Given the description of an element on the screen output the (x, y) to click on. 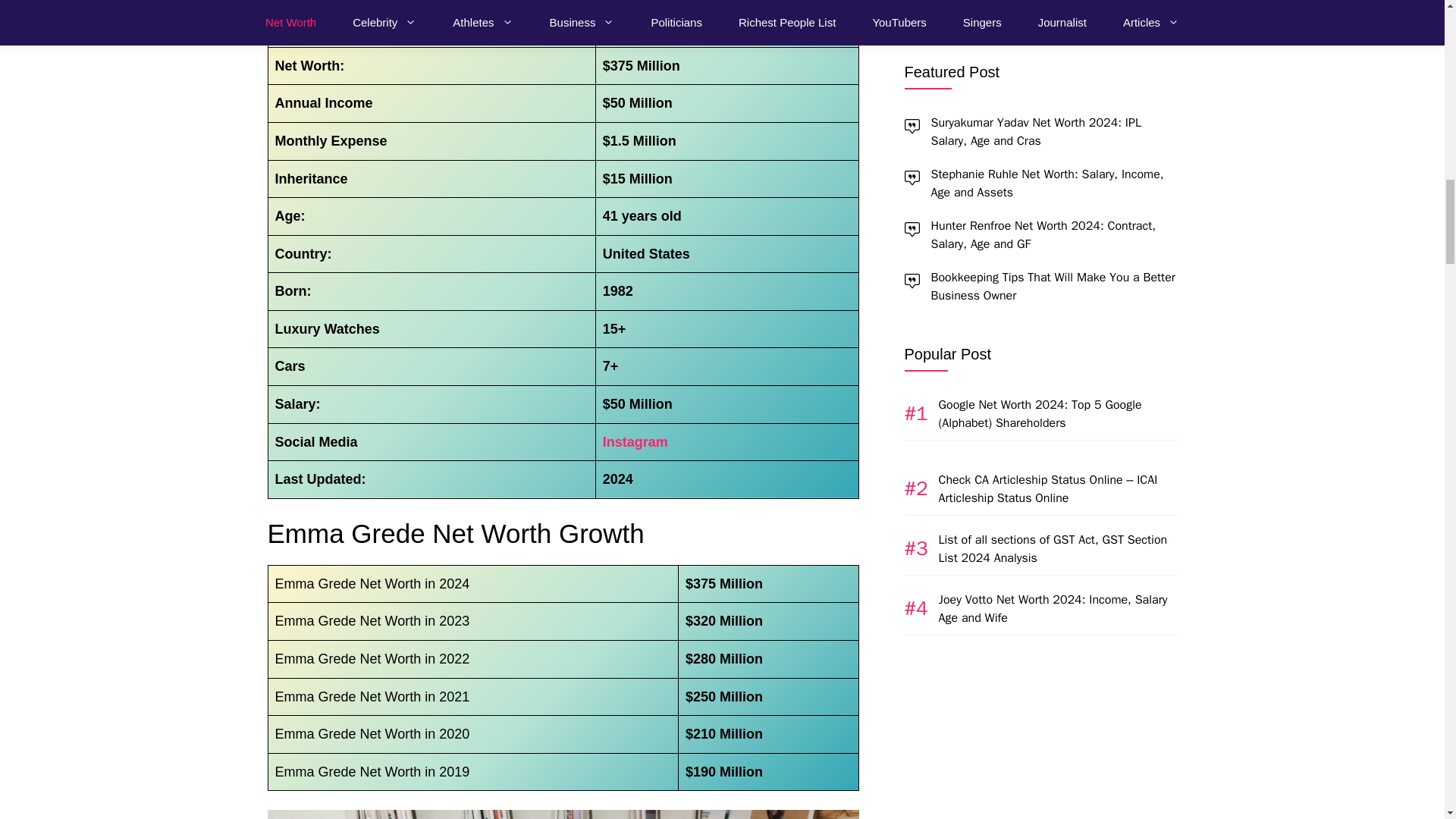
Emma Grede 1024x576 (562, 814)
